Given the description of an element on the screen output the (x, y) to click on. 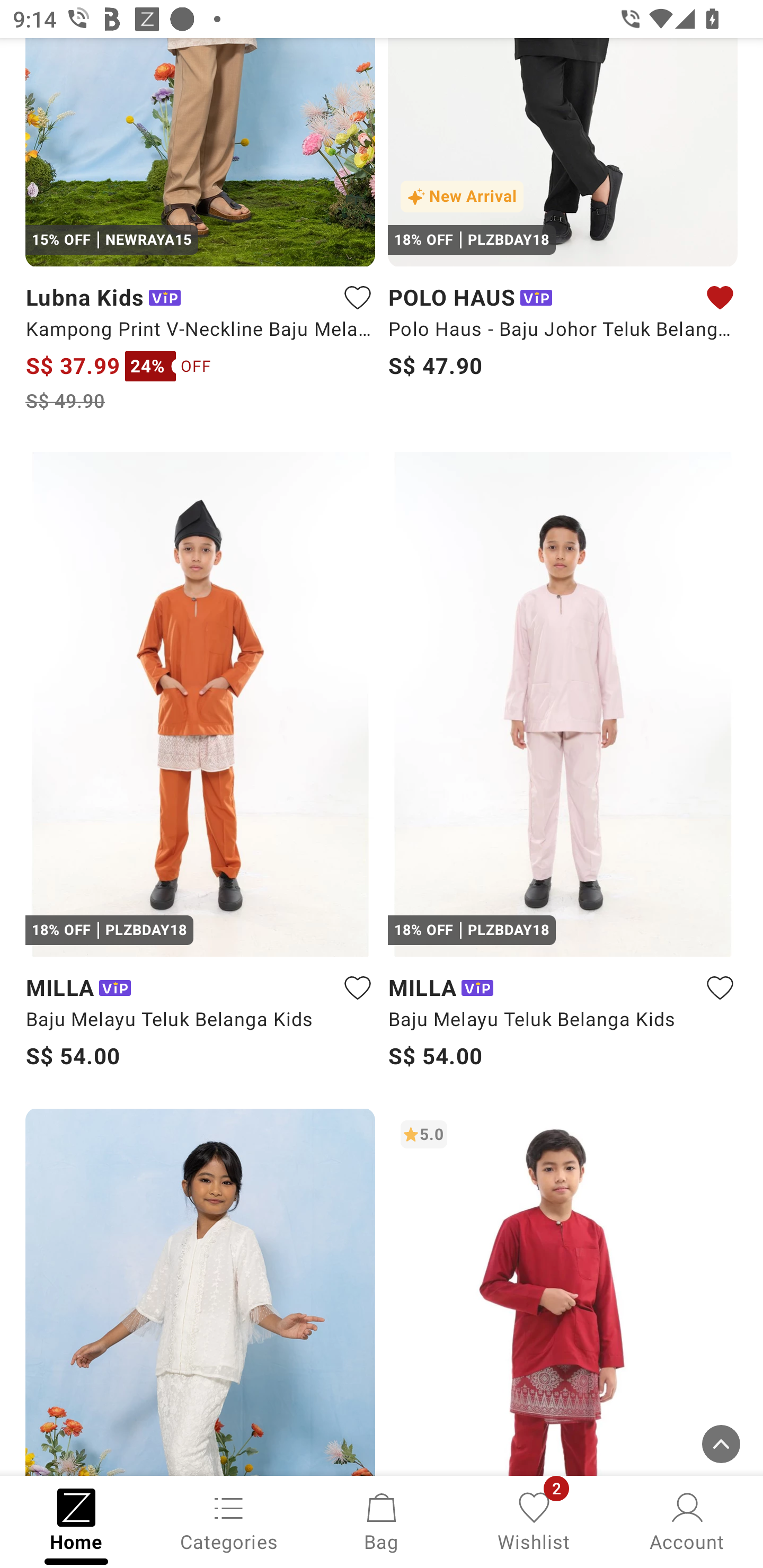
5.0 (562, 1291)
Categories (228, 1519)
Bag (381, 1519)
Wishlist, 2 new notifications Wishlist (533, 1519)
Account (686, 1519)
